Given the description of an element on the screen output the (x, y) to click on. 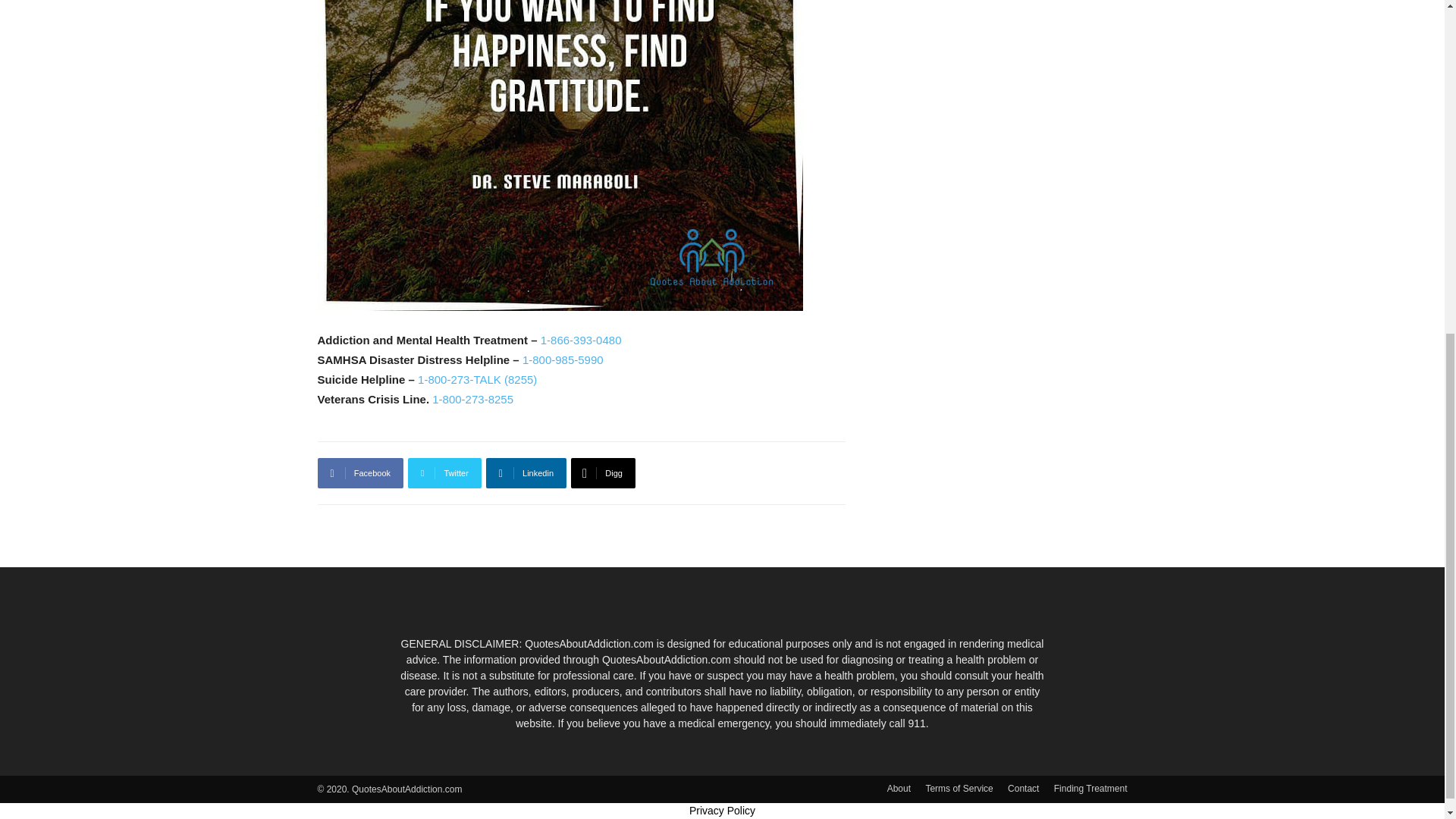
1-800-985-5990 (563, 359)
1-866-393-0480 (580, 339)
